Given the description of an element on the screen output the (x, y) to click on. 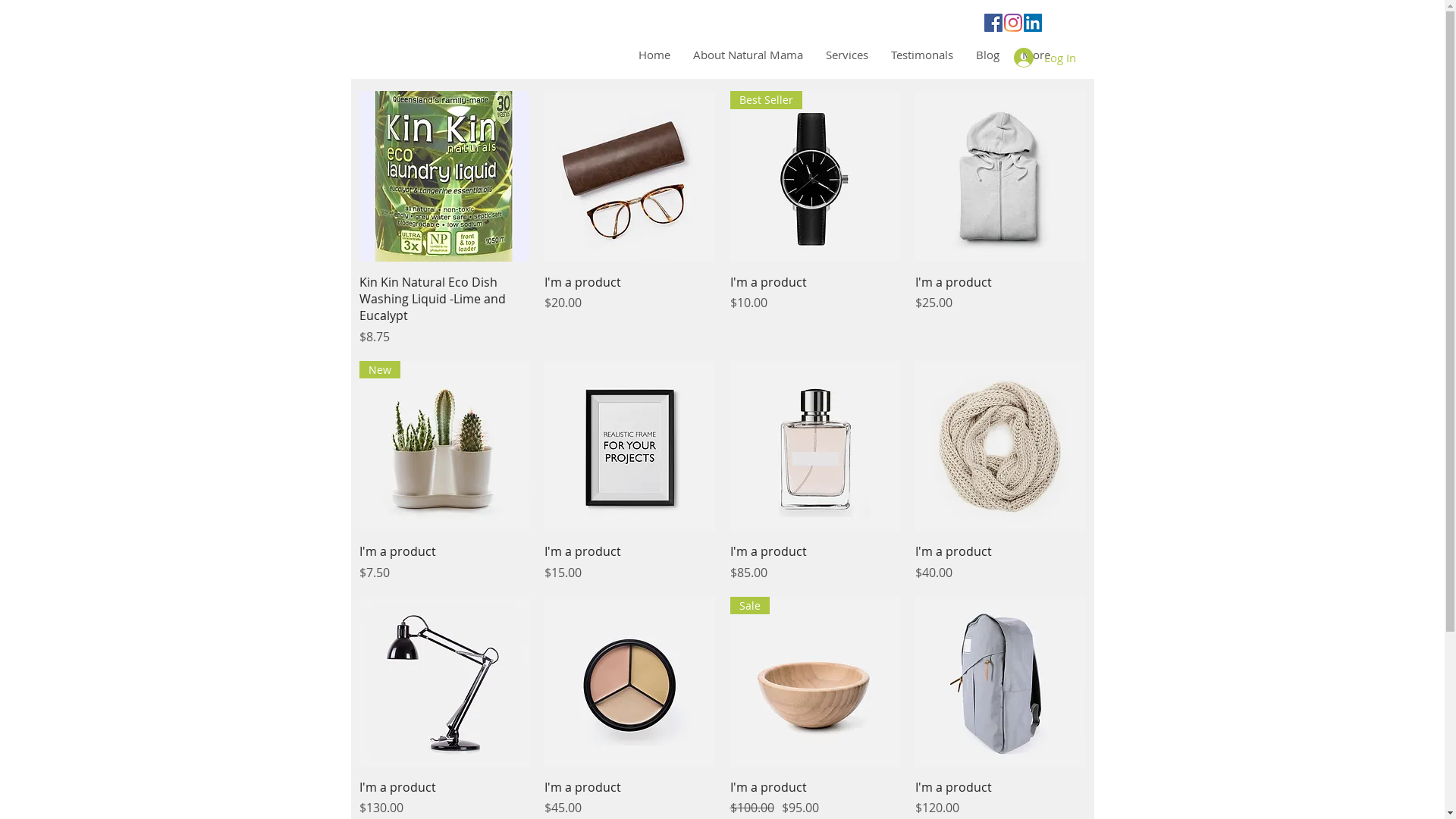
Testimonals Element type: text (921, 54)
I'm a product
Price
$20.00 Element type: text (629, 309)
I'm a product
Price
$40.00 Element type: text (1000, 561)
New Element type: text (444, 445)
Home Element type: text (653, 54)
Services Element type: text (846, 54)
Log In Element type: text (1043, 57)
I'm a product
Price
$25.00 Element type: text (1000, 309)
I'm a product
Price
$120.00 Element type: text (1000, 797)
Best Seller Element type: text (814, 176)
I'm a product
Regular Price
$100.00
Sale Price
$95.00 Element type: text (814, 797)
Sale Element type: text (814, 681)
I'm a product
Price
$85.00 Element type: text (814, 561)
I'm a product
Price
$45.00 Element type: text (629, 797)
I'm a product
Price
$10.00 Element type: text (814, 309)
About Natural Mama Element type: text (746, 54)
Blog Element type: text (987, 54)
I'm a product
Price
$15.00 Element type: text (629, 561)
I'm a product
Price
$130.00 Element type: text (444, 797)
I'm a product
Price
$7.50 Element type: text (444, 561)
